Given the description of an element on the screen output the (x, y) to click on. 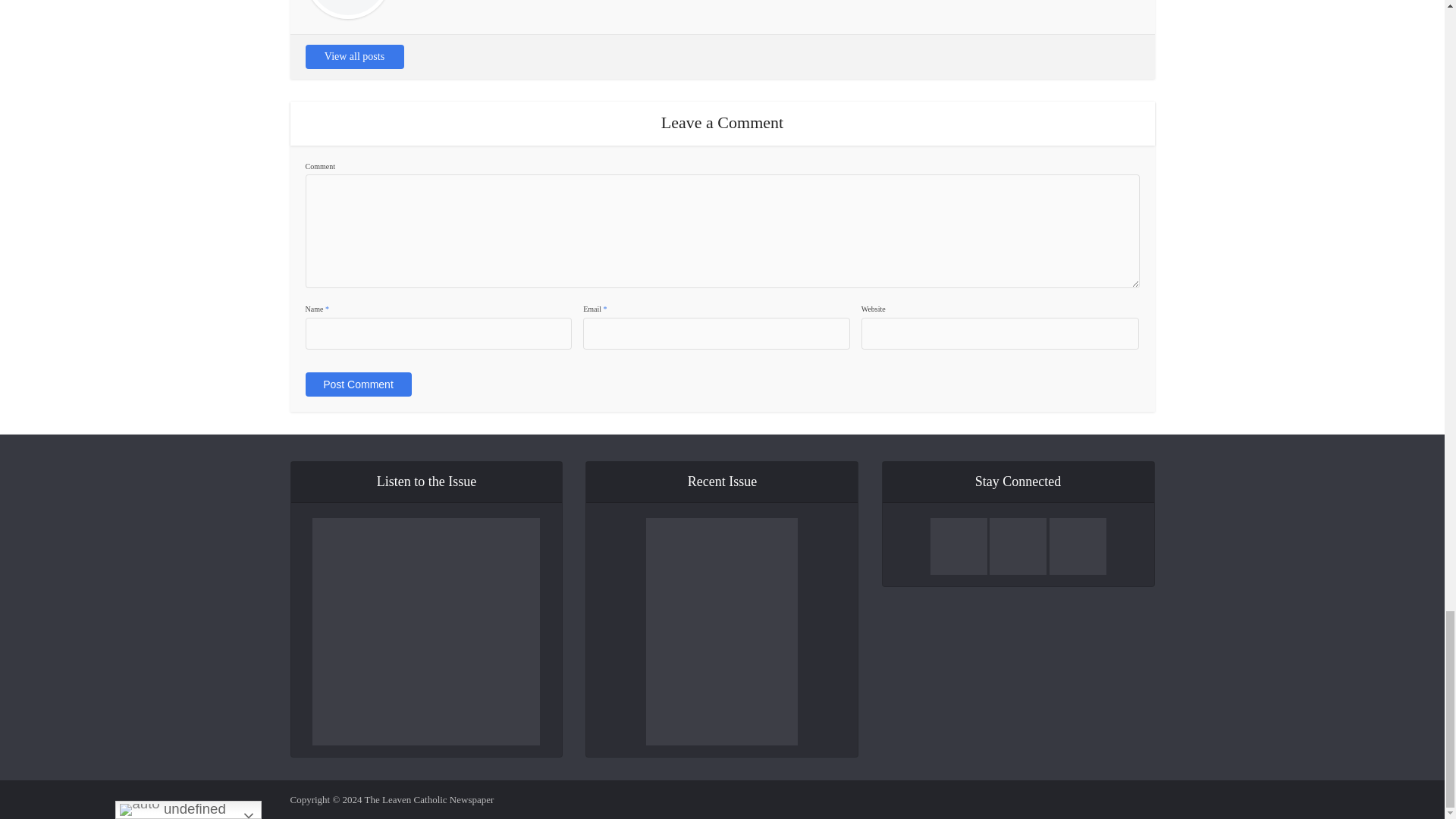
Post Comment (357, 384)
